Given the description of an element on the screen output the (x, y) to click on. 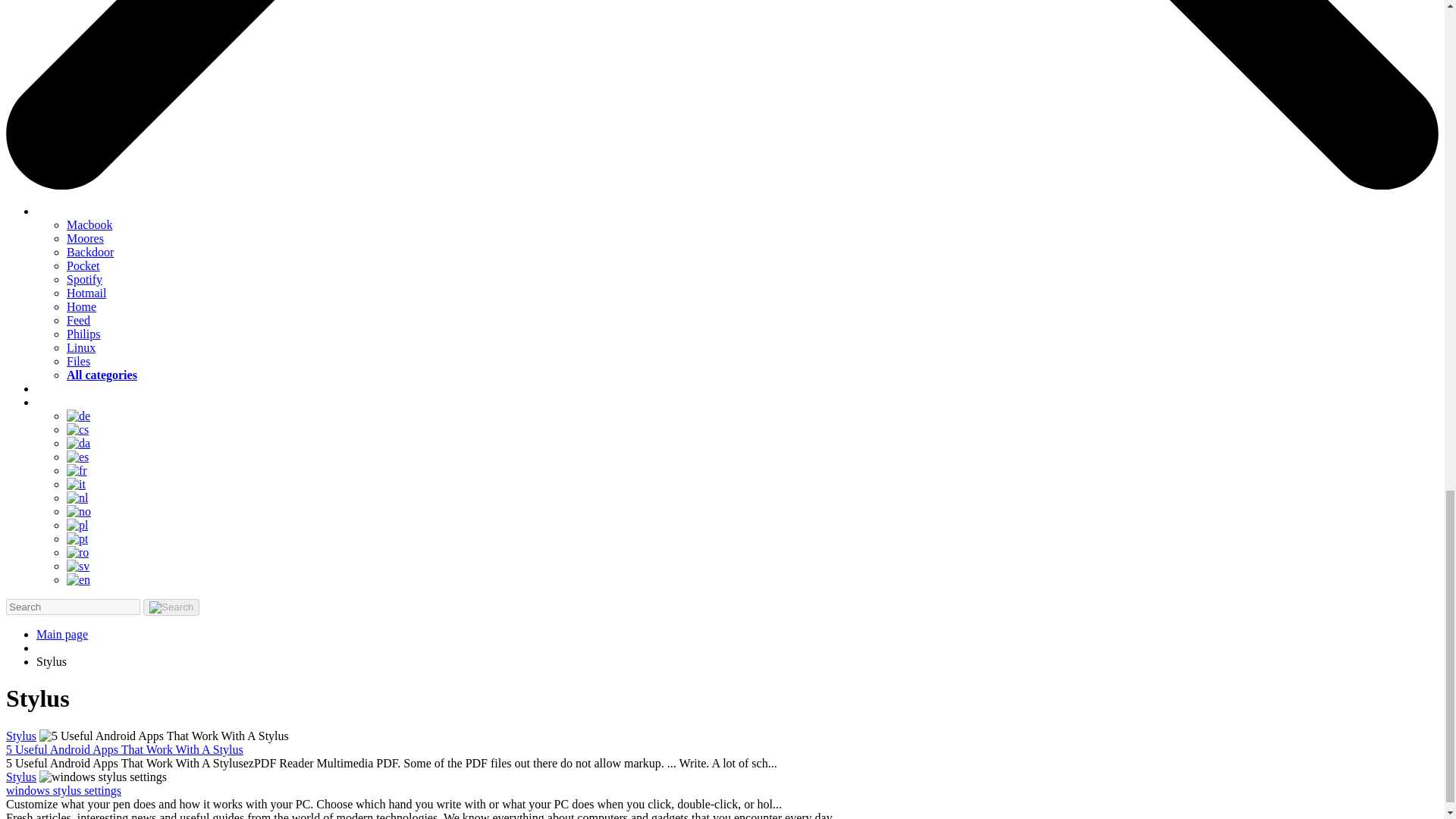
Home (81, 306)
Search (170, 606)
Backdoor (89, 251)
windows stylus settings (62, 789)
Hotmail (86, 292)
Linux (81, 347)
All categories (101, 374)
Main page (61, 634)
Moores (84, 237)
Stylus (20, 735)
